Given the description of an element on the screen output the (x, y) to click on. 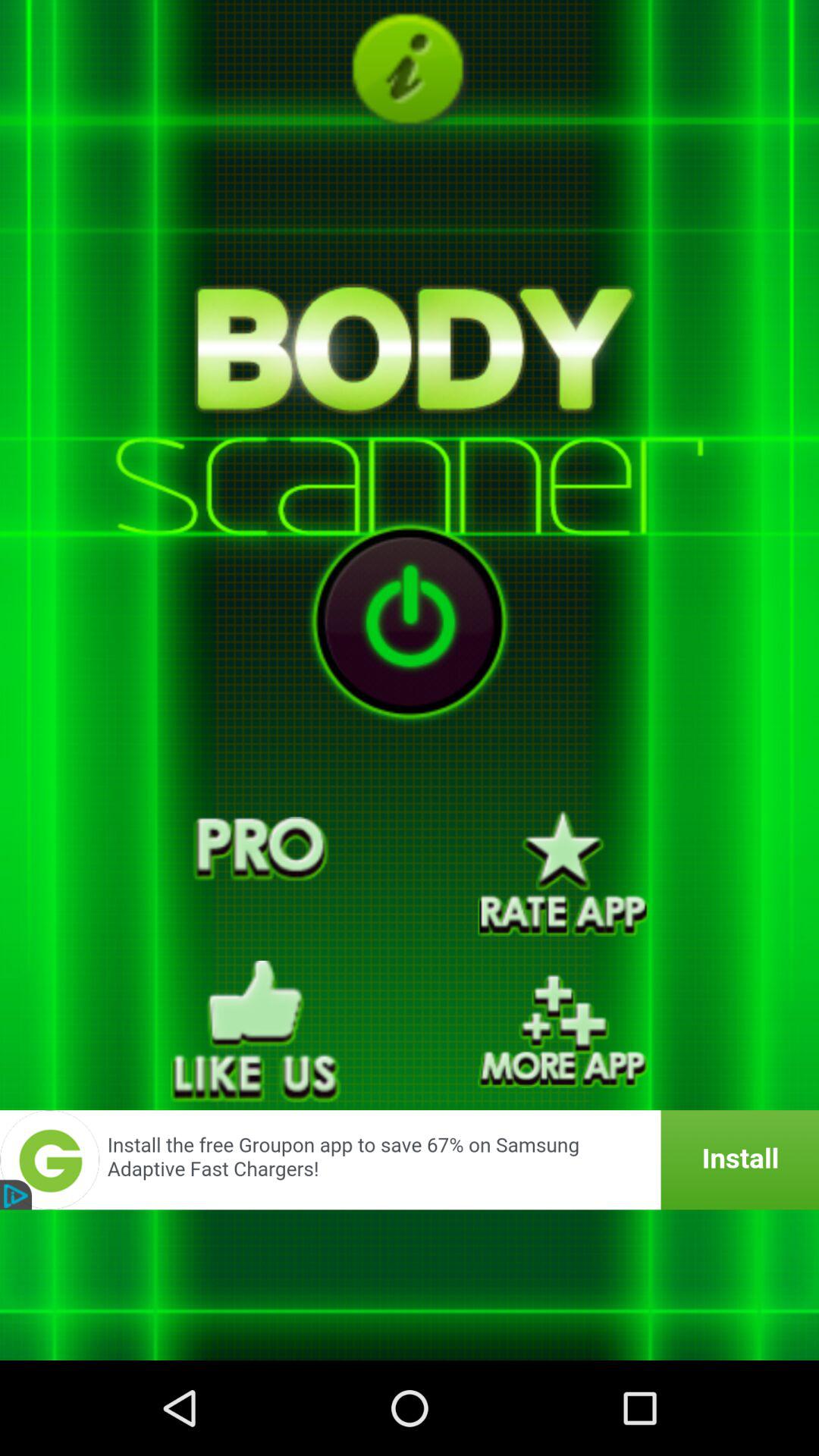
turn app on or off (409, 621)
